Given the description of an element on the screen output the (x, y) to click on. 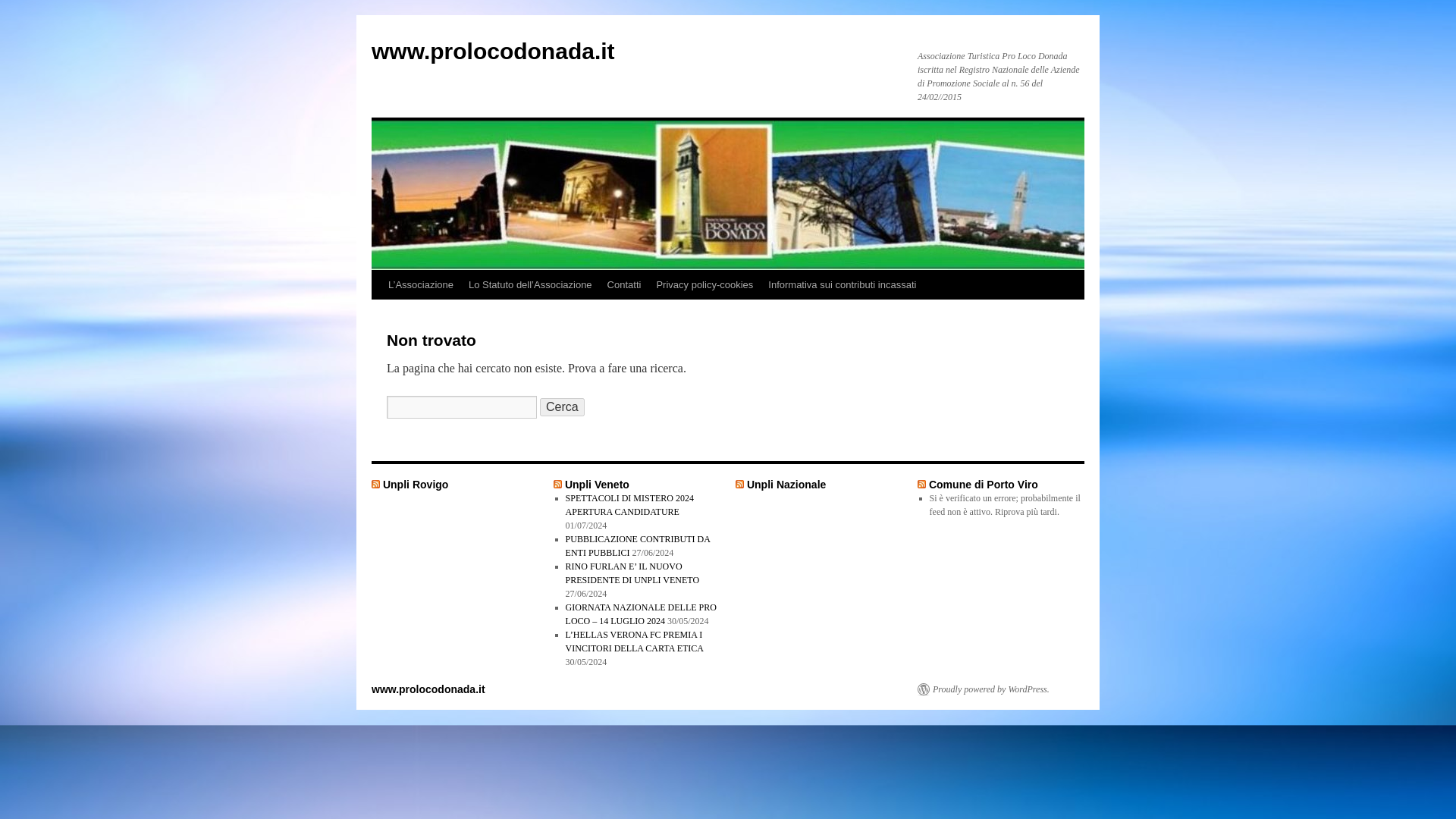
Informativa sui contributi incassati (841, 285)
Privacy policy-cookies (703, 285)
Unpli Veneto (596, 484)
Contatti (624, 285)
Comune di Porto Viro (983, 484)
Cerca (562, 407)
Unpli Rovigo (415, 484)
PUBBLICAZIONE CONTRIBUTI DA ENTI PUBBLICI (638, 545)
www.prolocodonada.it (492, 50)
Unpli Nazionale (785, 484)
Cerca (562, 407)
SPETTACOLI DI MISTERO 2024 APERTURA CANDIDATURE (630, 504)
